Given the description of an element on the screen output the (x, y) to click on. 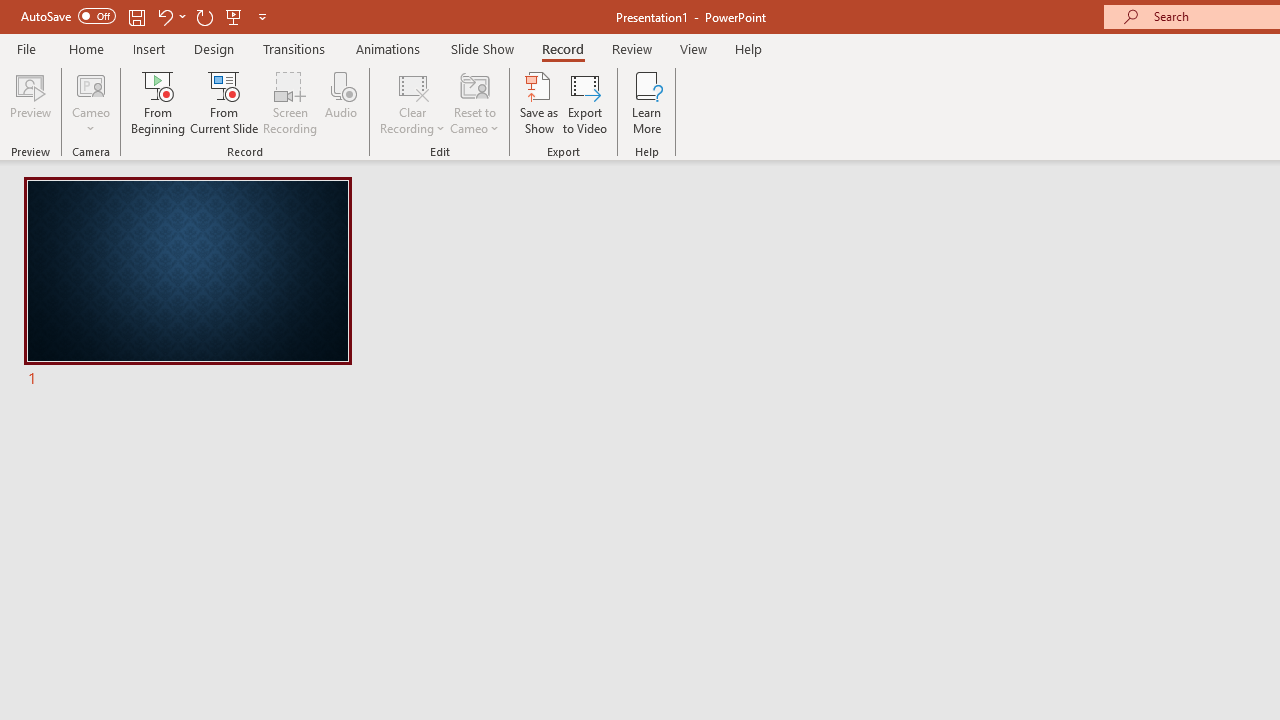
Clear Recording (412, 102)
Reset to Cameo (474, 102)
Learn More (646, 102)
